Given the description of an element on the screen output the (x, y) to click on. 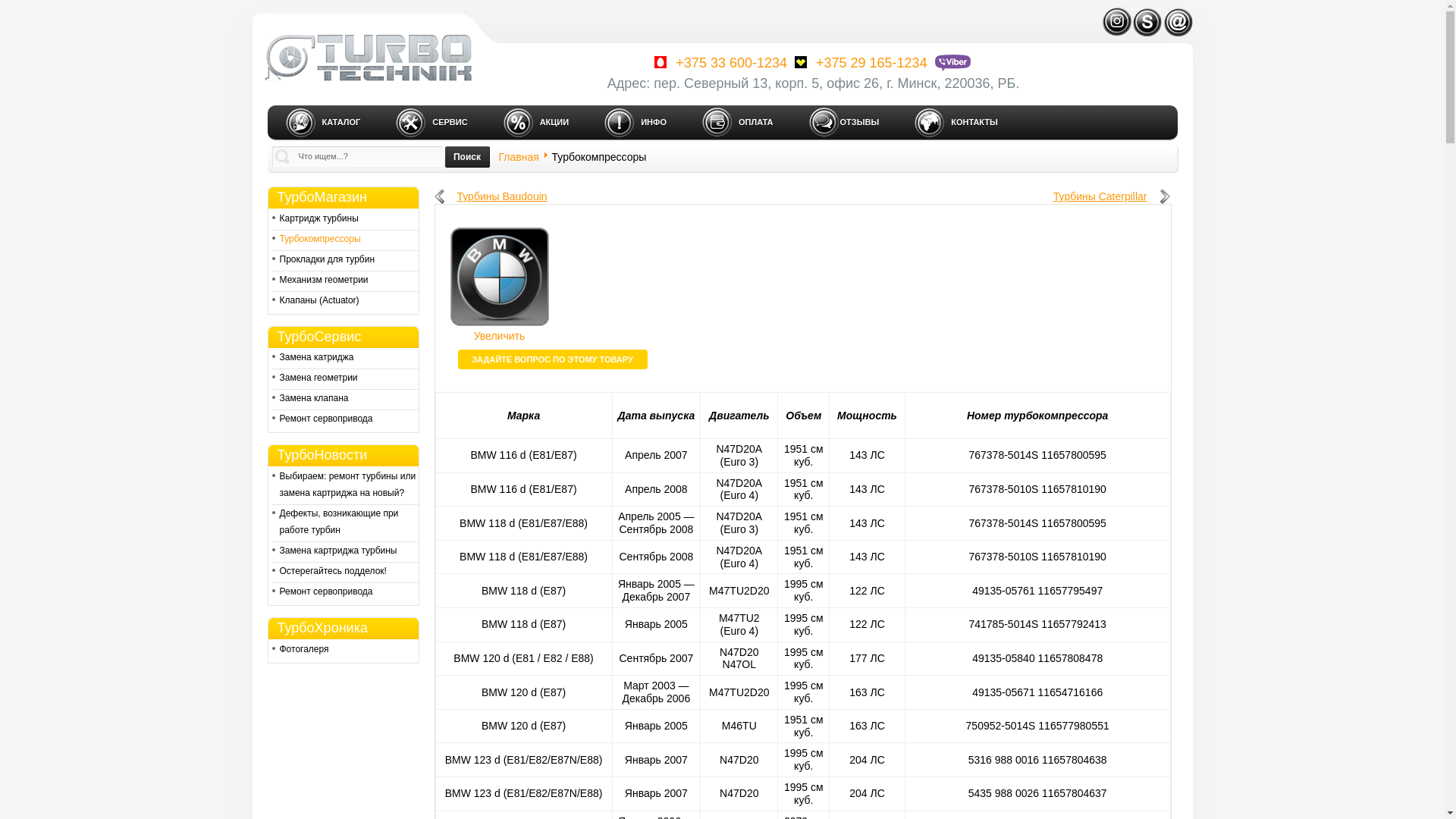
+375 33 600-1234 Element type: text (718, 62)
Skype Element type: hover (1146, 12)
+375 29 165-1234 Element type: text (858, 62)
E-mail Element type: hover (1178, 12)
